Given the description of an element on the screen output the (x, y) to click on. 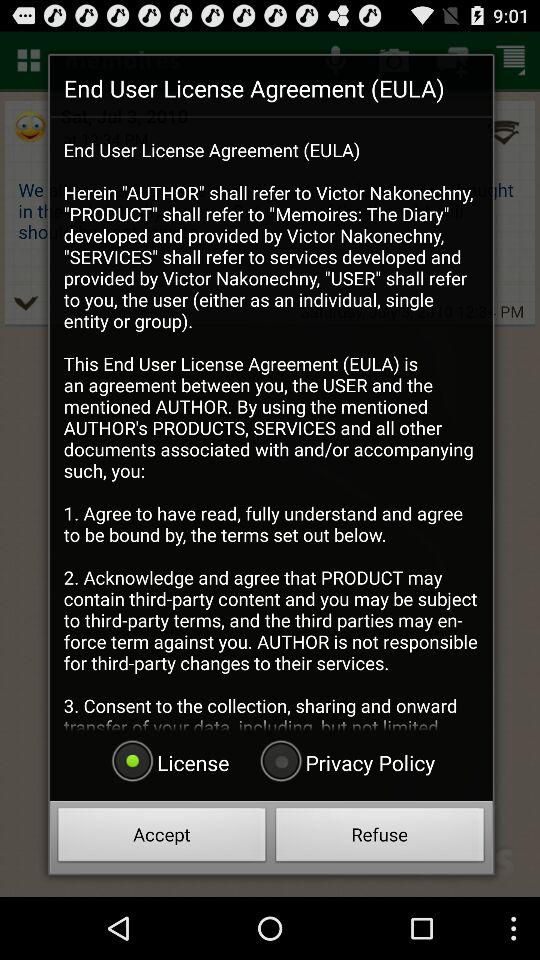
click the radio button next to license icon (345, 762)
